Given the description of an element on the screen output the (x, y) to click on. 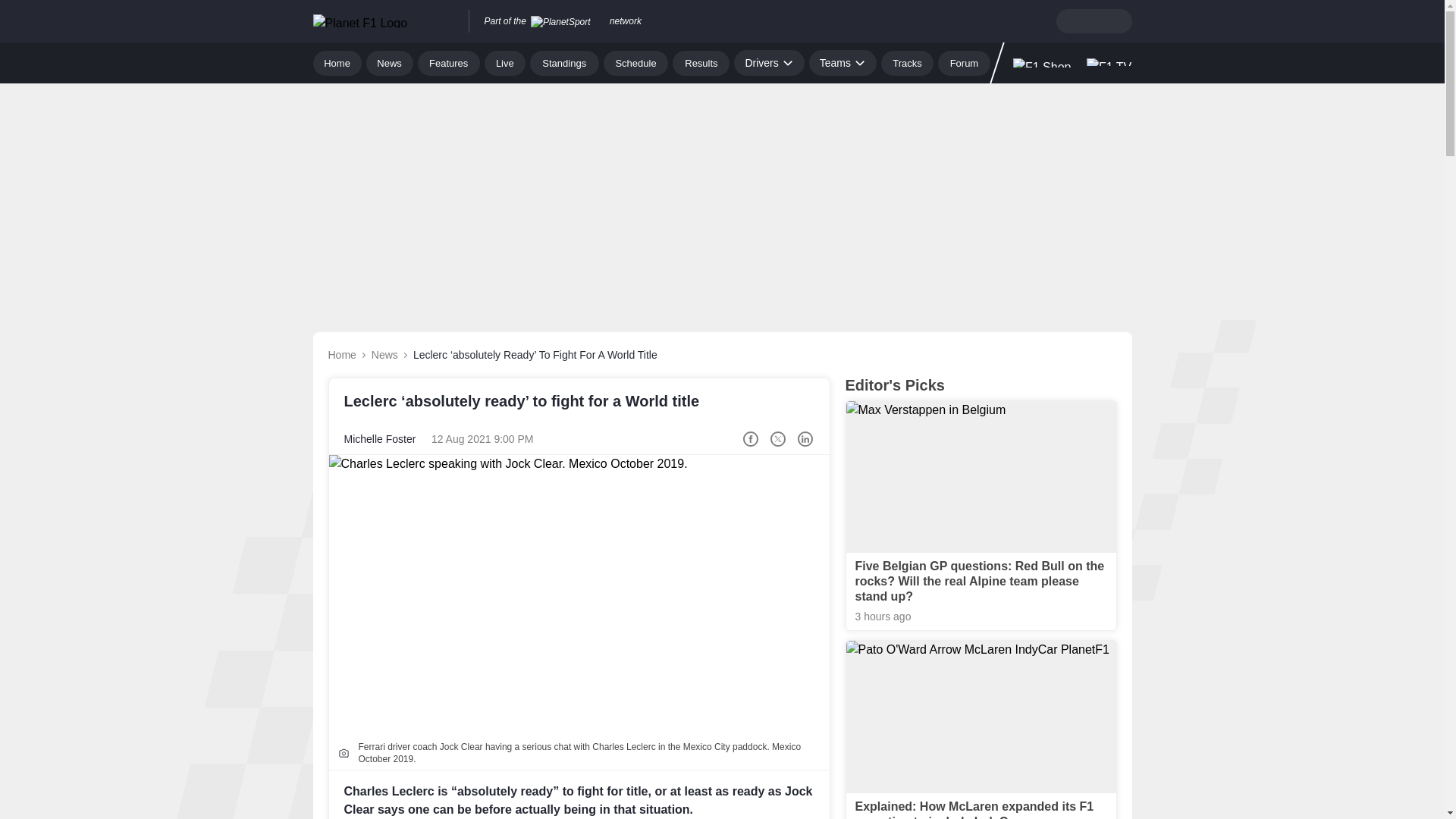
Standings (563, 62)
Results (700, 62)
Live (504, 62)
Schedule (636, 62)
Drivers (768, 62)
Home (337, 62)
Teams (842, 62)
News (389, 62)
Features (448, 62)
